Given the description of an element on the screen output the (x, y) to click on. 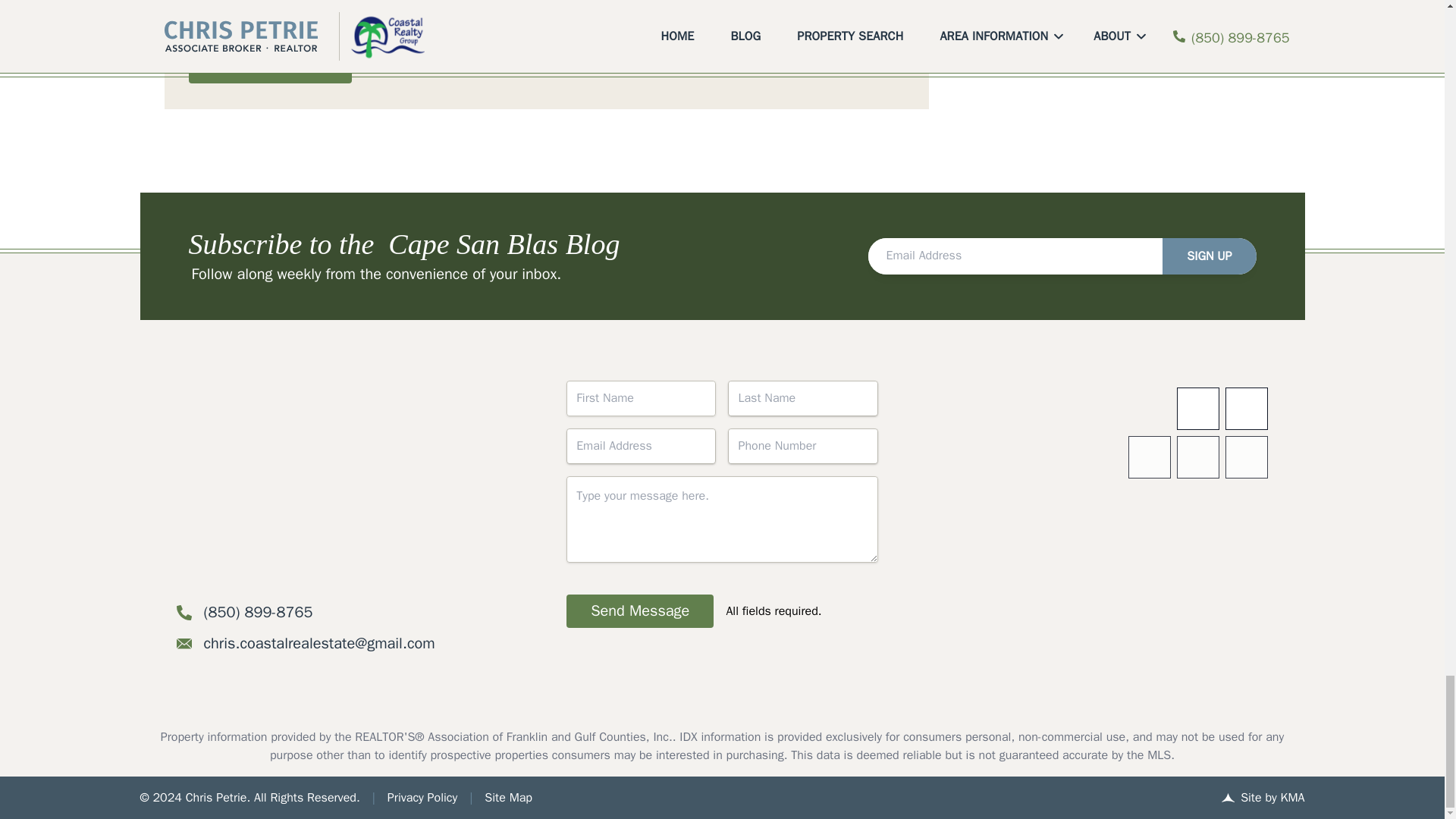
Submit Comment (268, 66)
